Given the description of an element on the screen output the (x, y) to click on. 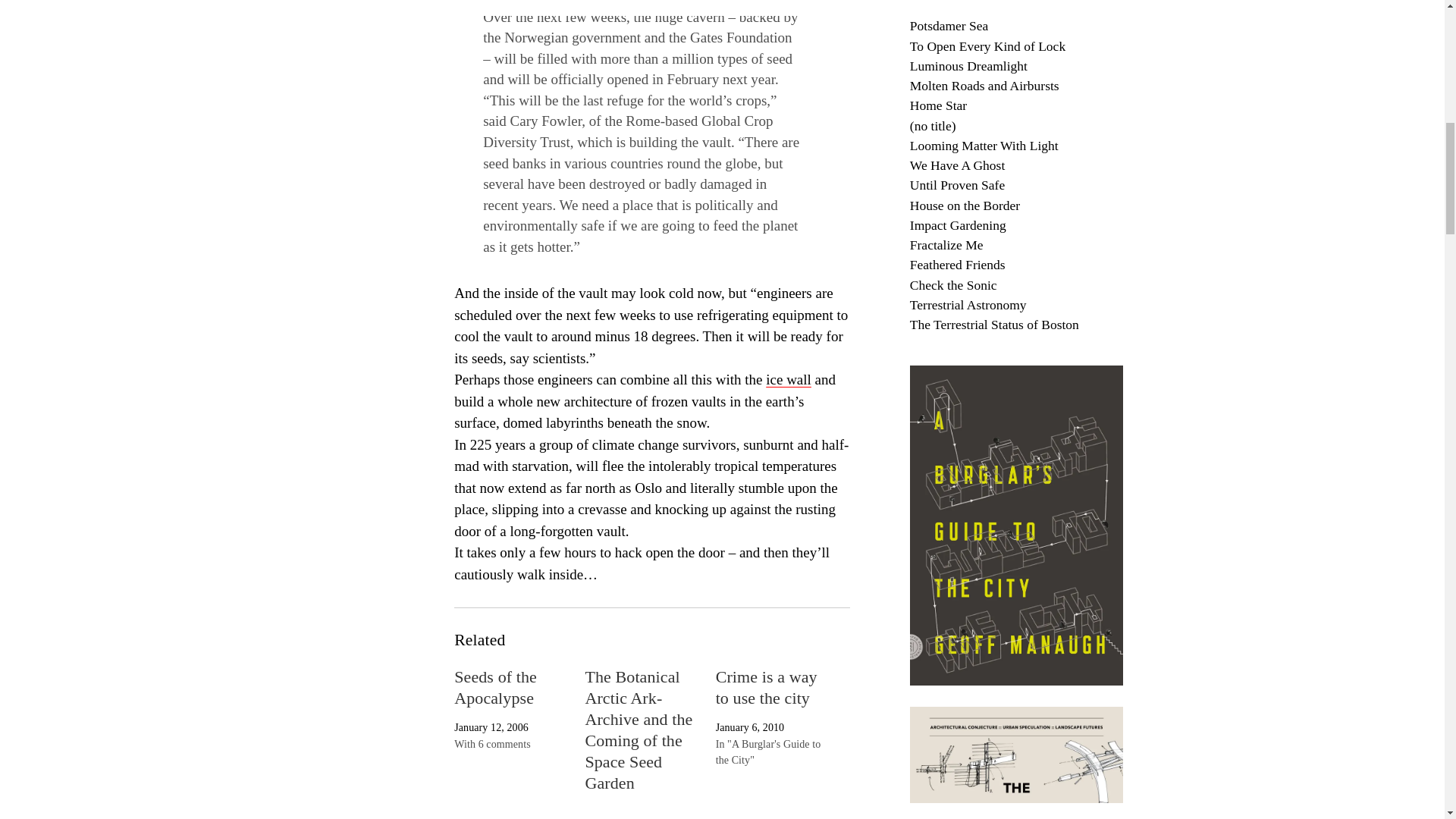
ice wall (787, 379)
Seeds of the Apocalypse (495, 687)
Seeds of the Apocalypse (495, 687)
Crime is a way to use the city (766, 687)
Crime is a way to use the city (766, 687)
